Given the description of an element on the screen output the (x, y) to click on. 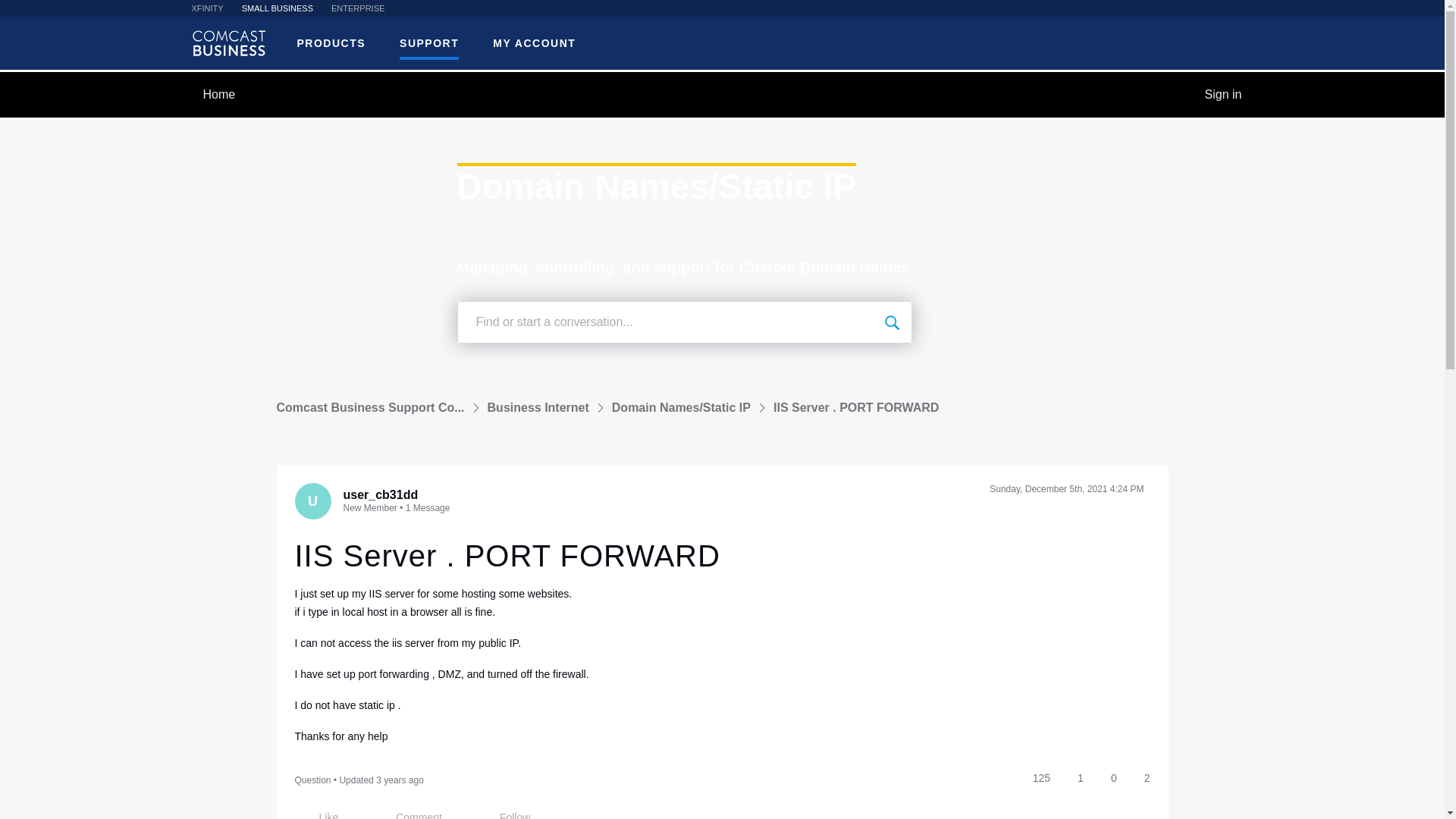
U (312, 501)
Comcast Business Support Co... (370, 407)
SMALL BUSINESS (277, 8)
MY ACCOUNT (534, 44)
ENTERPRISE (357, 8)
PRODUCTS (331, 44)
Business Internet (538, 407)
XFINITY (206, 8)
Comcast Business (228, 43)
SUPPORT (428, 44)
